Given the description of an element on the screen output the (x, y) to click on. 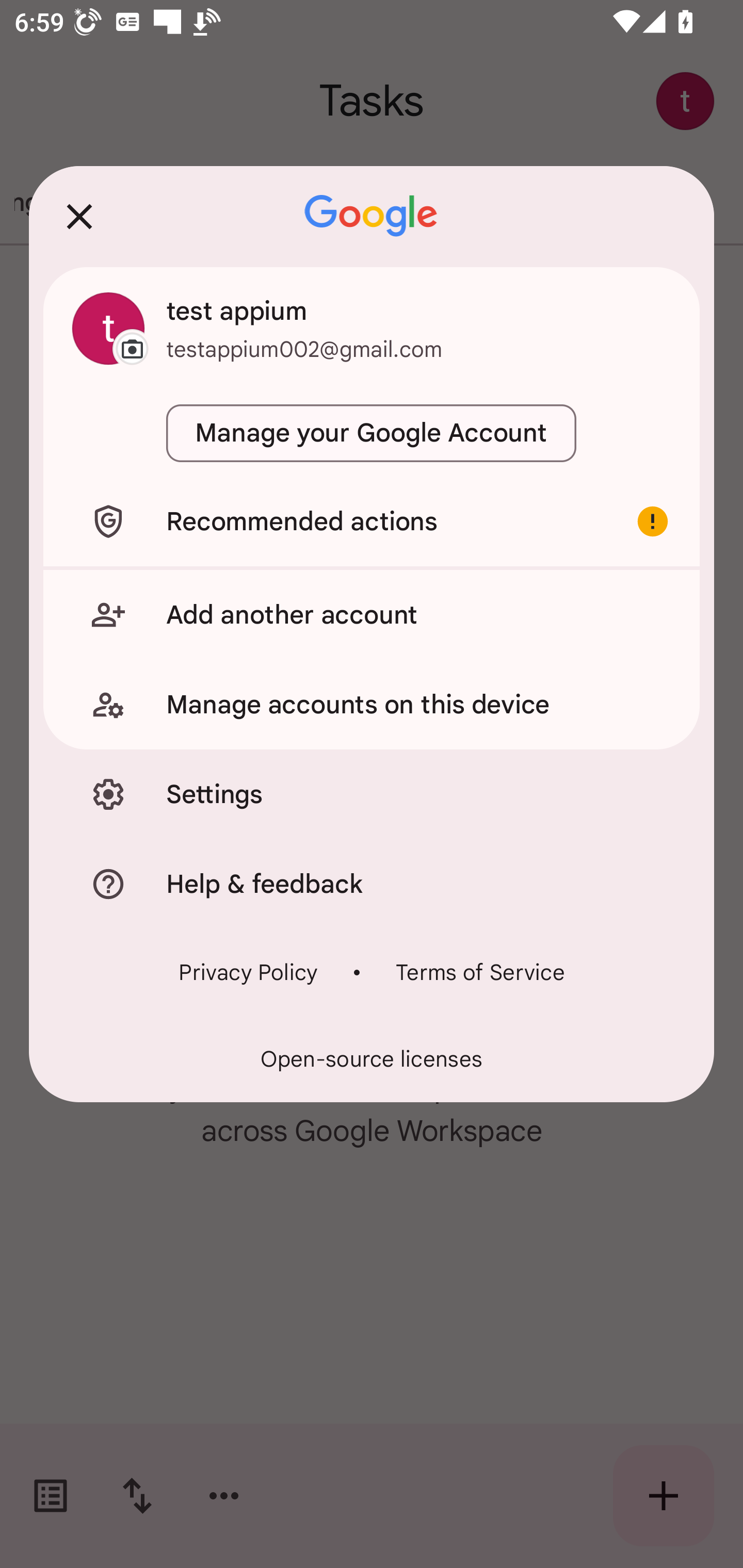
Close (79, 216)
Change profile picture. (108, 328)
Manage your Google Account (371, 433)
Recommended actions Important account alert (371, 521)
Add another account (371, 614)
Manage accounts on this device (371, 704)
Settings (371, 793)
Help & feedback (371, 883)
Privacy Policy (247, 972)
Terms of Service (479, 972)
Open-source licenses (371, 1059)
